Given the description of an element on the screen output the (x, y) to click on. 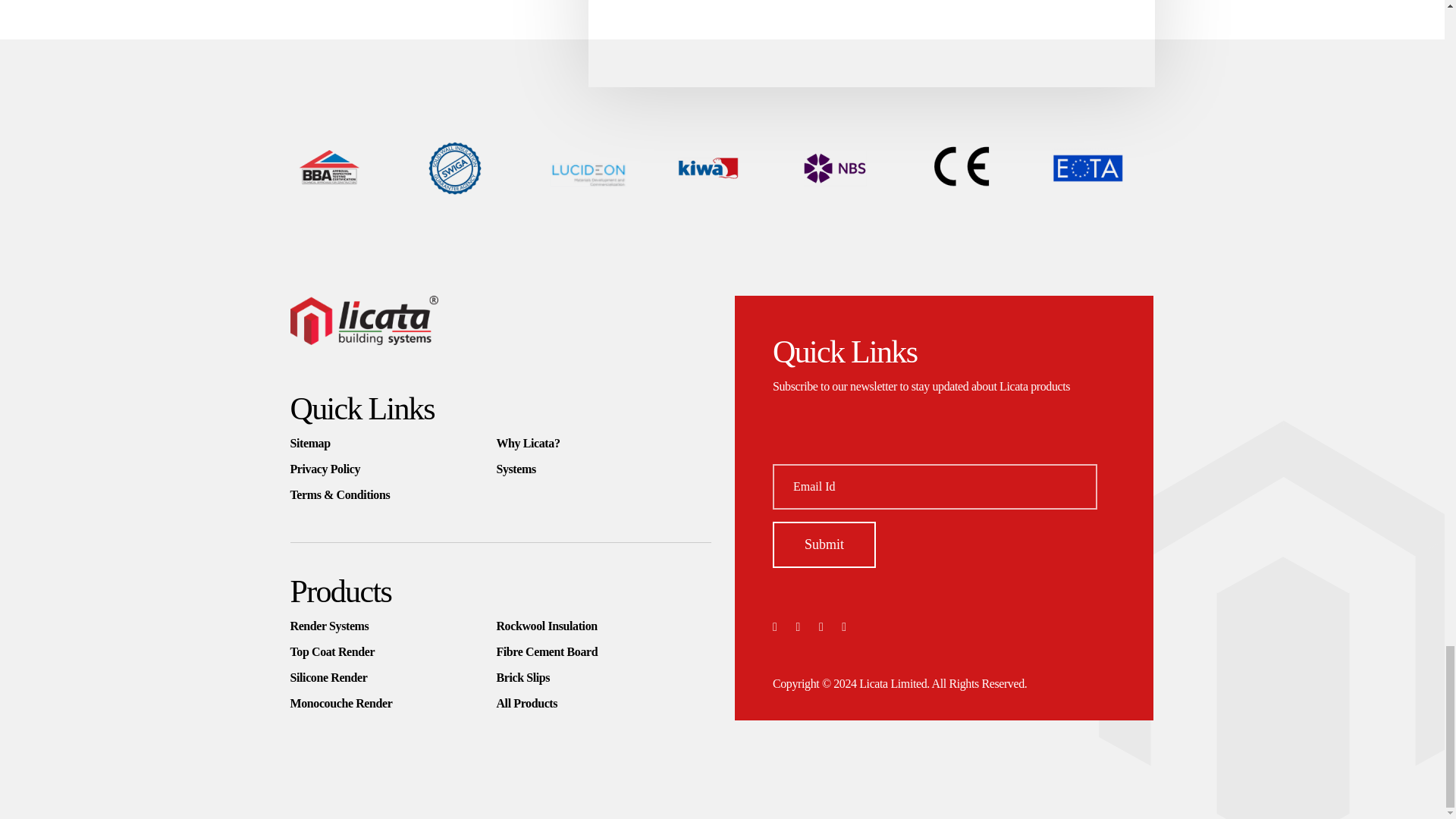
Submit (824, 544)
